Given the description of an element on the screen output the (x, y) to click on. 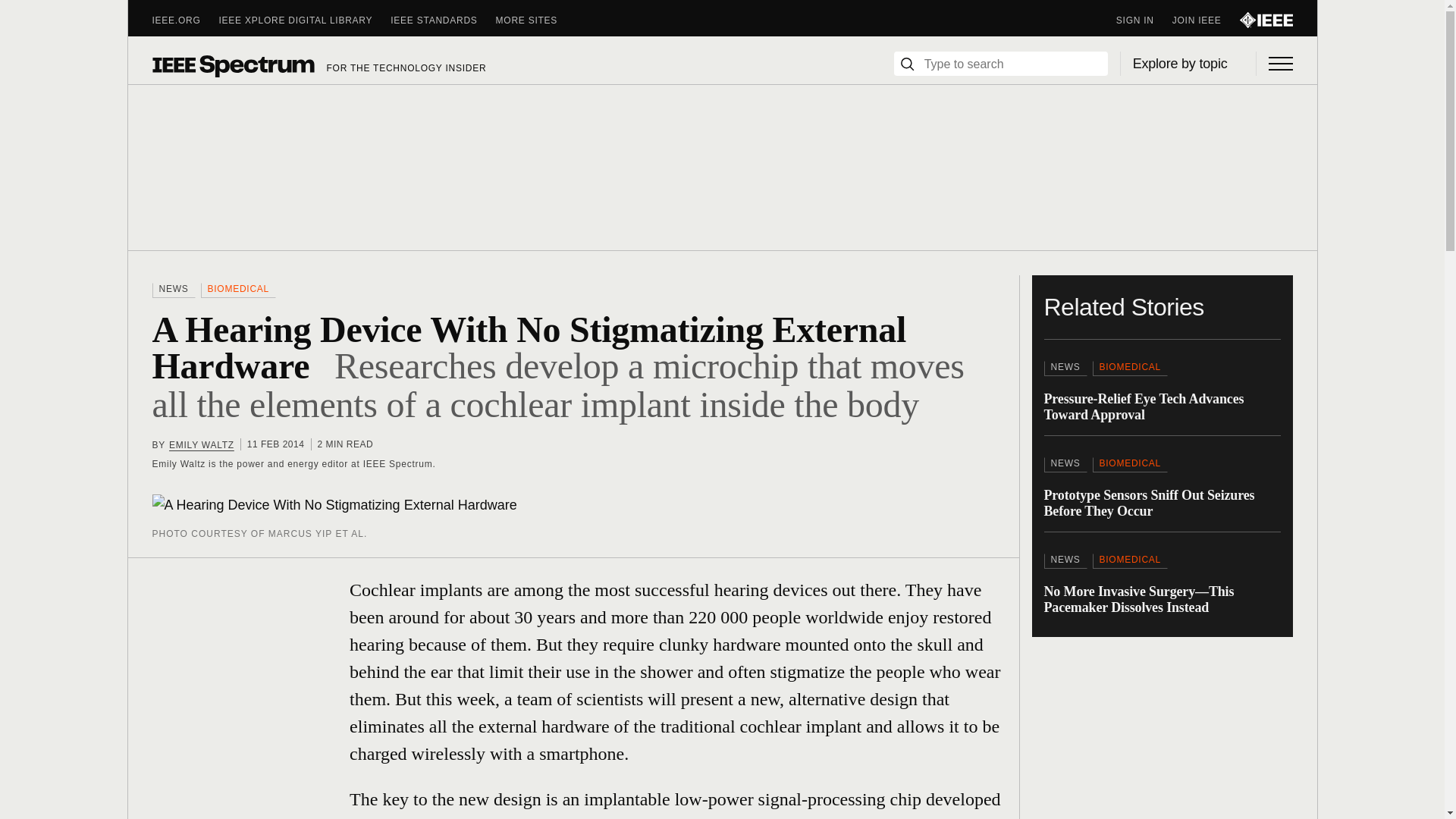
IEEE.ORG (184, 20)
JOIN IEEE (1206, 20)
Search (907, 63)
IEEE STANDARDS (442, 20)
Spectrum Logo (232, 64)
SIGN IN (1144, 20)
MORE SITES (536, 20)
IEEE XPLORE DIGITAL LIBRARY (305, 20)
